Given the description of an element on the screen output the (x, y) to click on. 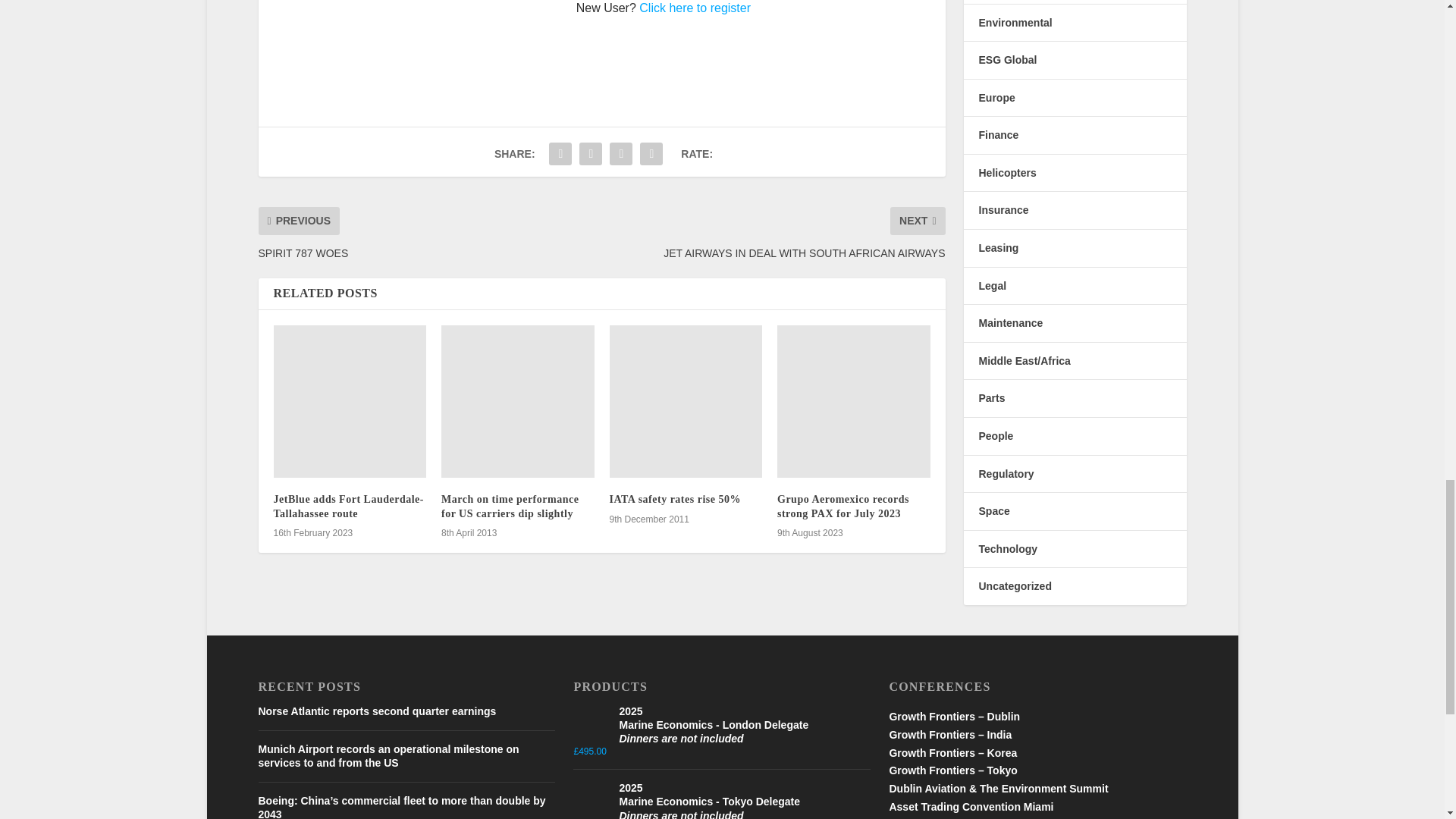
March on time performance for US carriers dip slightly (517, 401)
Grupo Aeromexico records strong PAX for July 2023 (853, 401)
JetBlue adds Fort Lauderdale-Tallahassee route (349, 401)
